Given the description of an element on the screen output the (x, y) to click on. 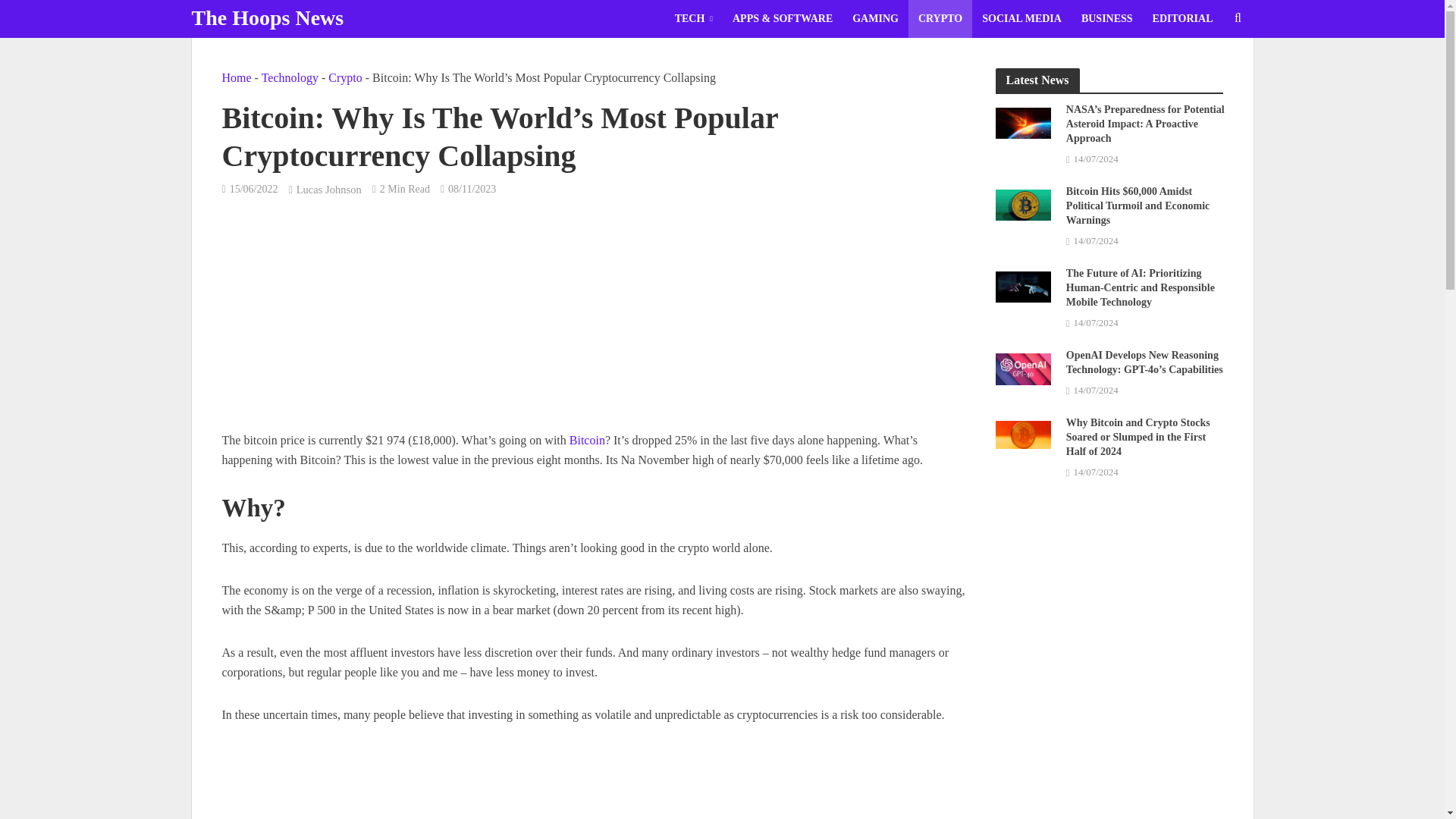
Lucas Johnson (329, 191)
Bitcoin (587, 441)
CRYPTO (940, 18)
EDITORIAL (1182, 18)
The Hoops News (266, 17)
SOCIAL MEDIA (1021, 18)
Advertisement (592, 783)
Crypto (345, 77)
GAMING (875, 18)
BUSINESS (1106, 18)
Technology (290, 77)
